Given the description of an element on the screen output the (x, y) to click on. 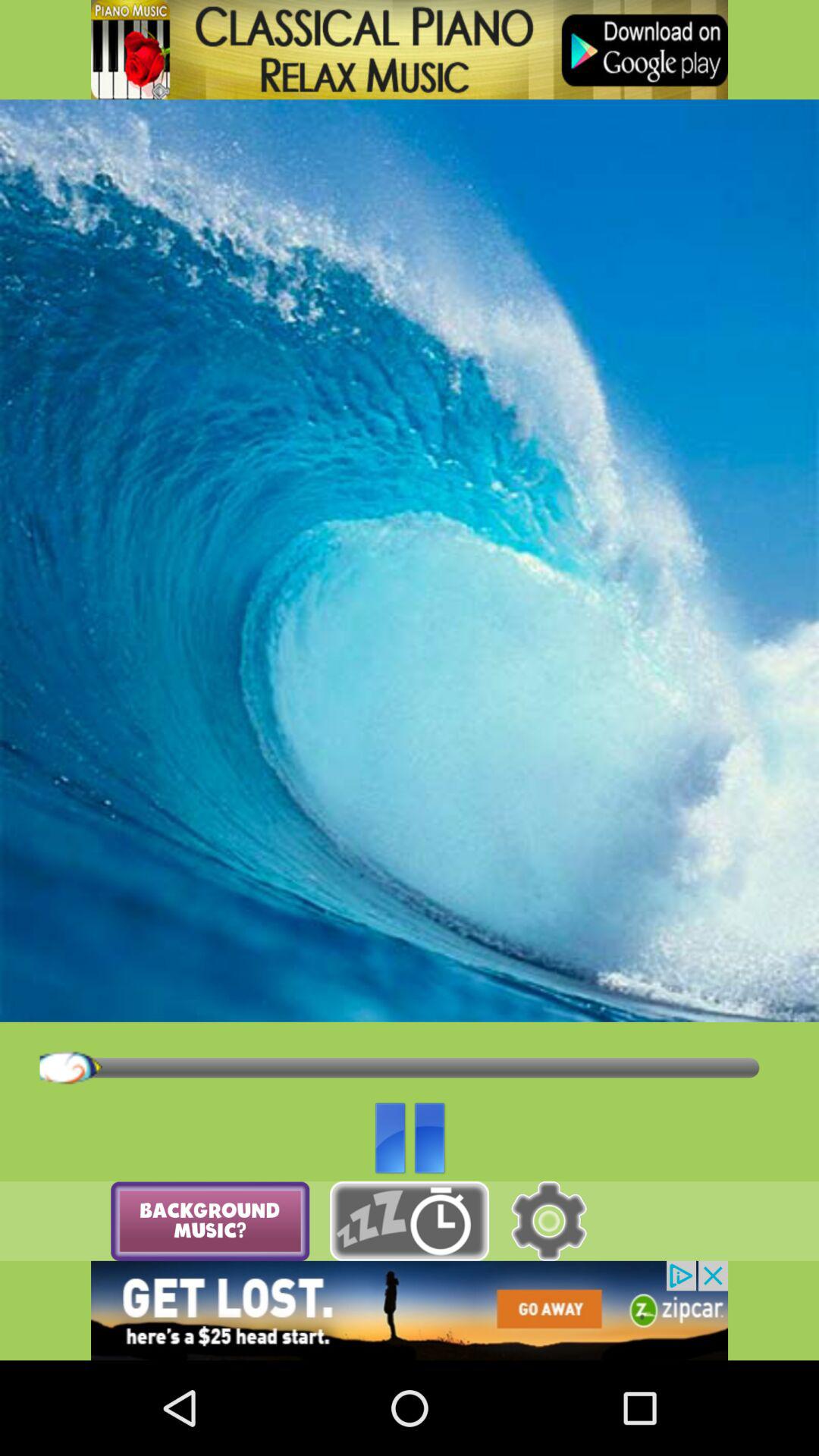
advertisement (409, 49)
